Given the description of an element on the screen output the (x, y) to click on. 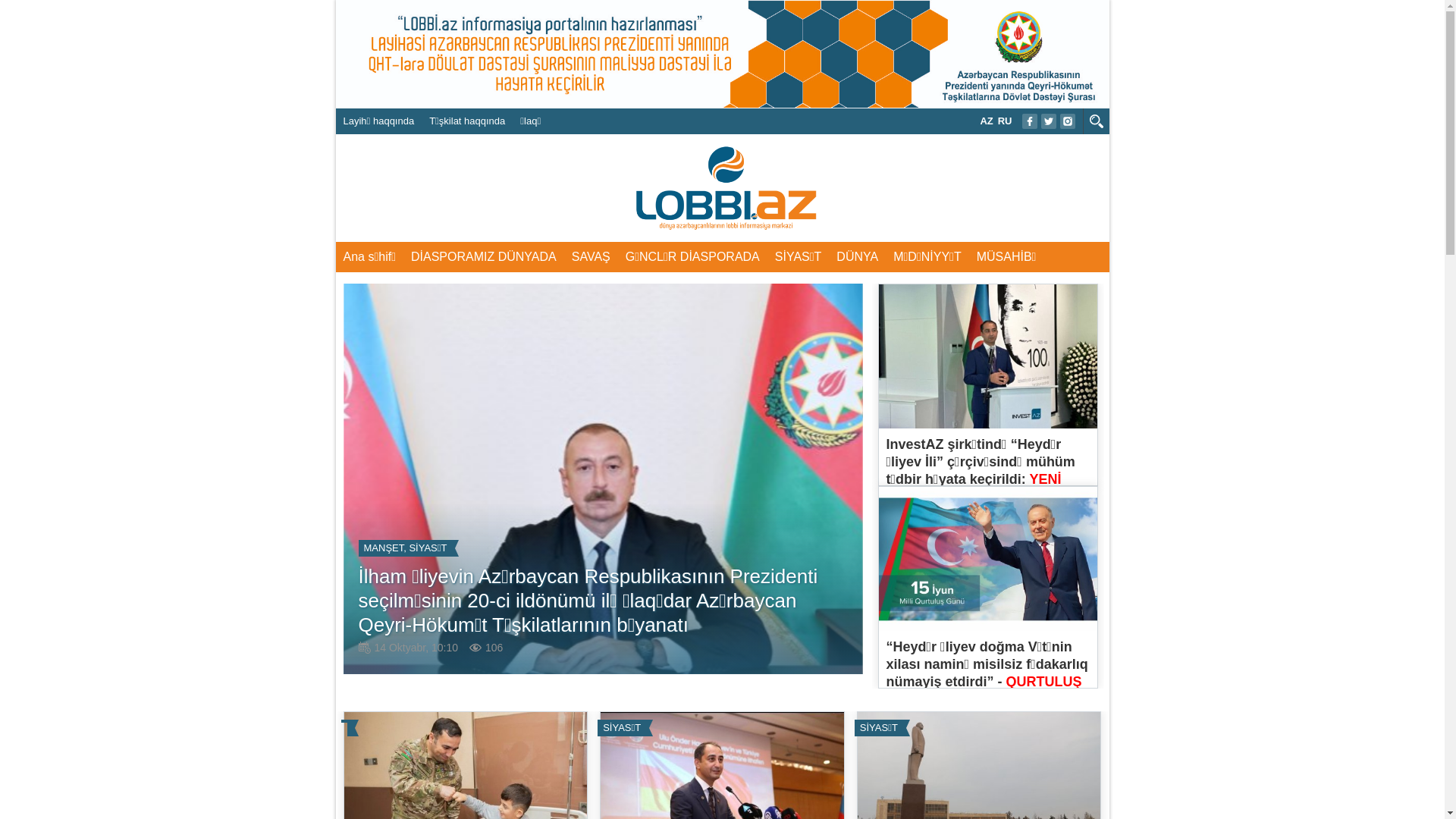
AZ Element type: text (985, 120)
RU Element type: text (1004, 120)
